Given the description of an element on the screen output the (x, y) to click on. 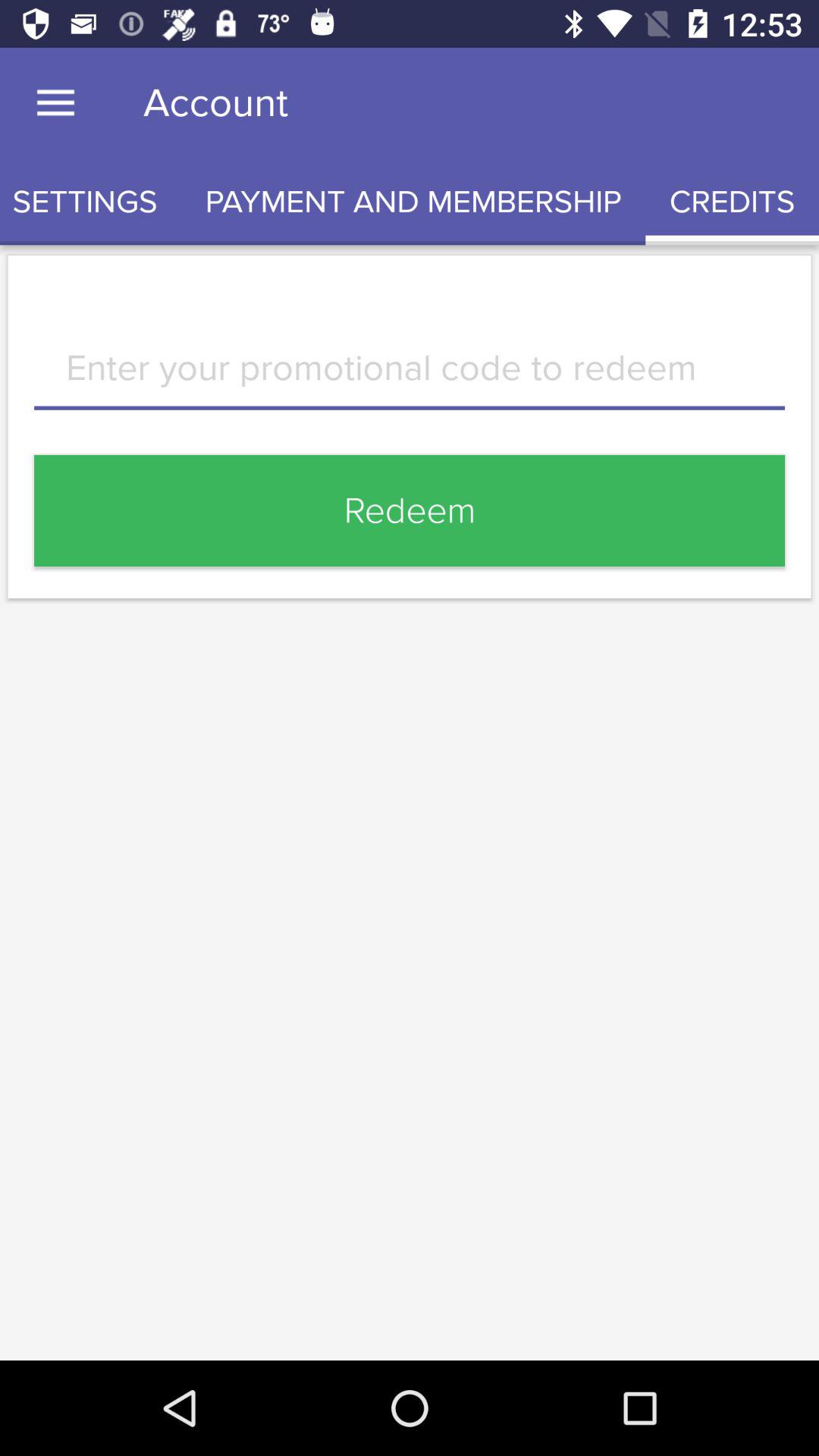
press the icon to the left of account (55, 103)
